Given the description of an element on the screen output the (x, y) to click on. 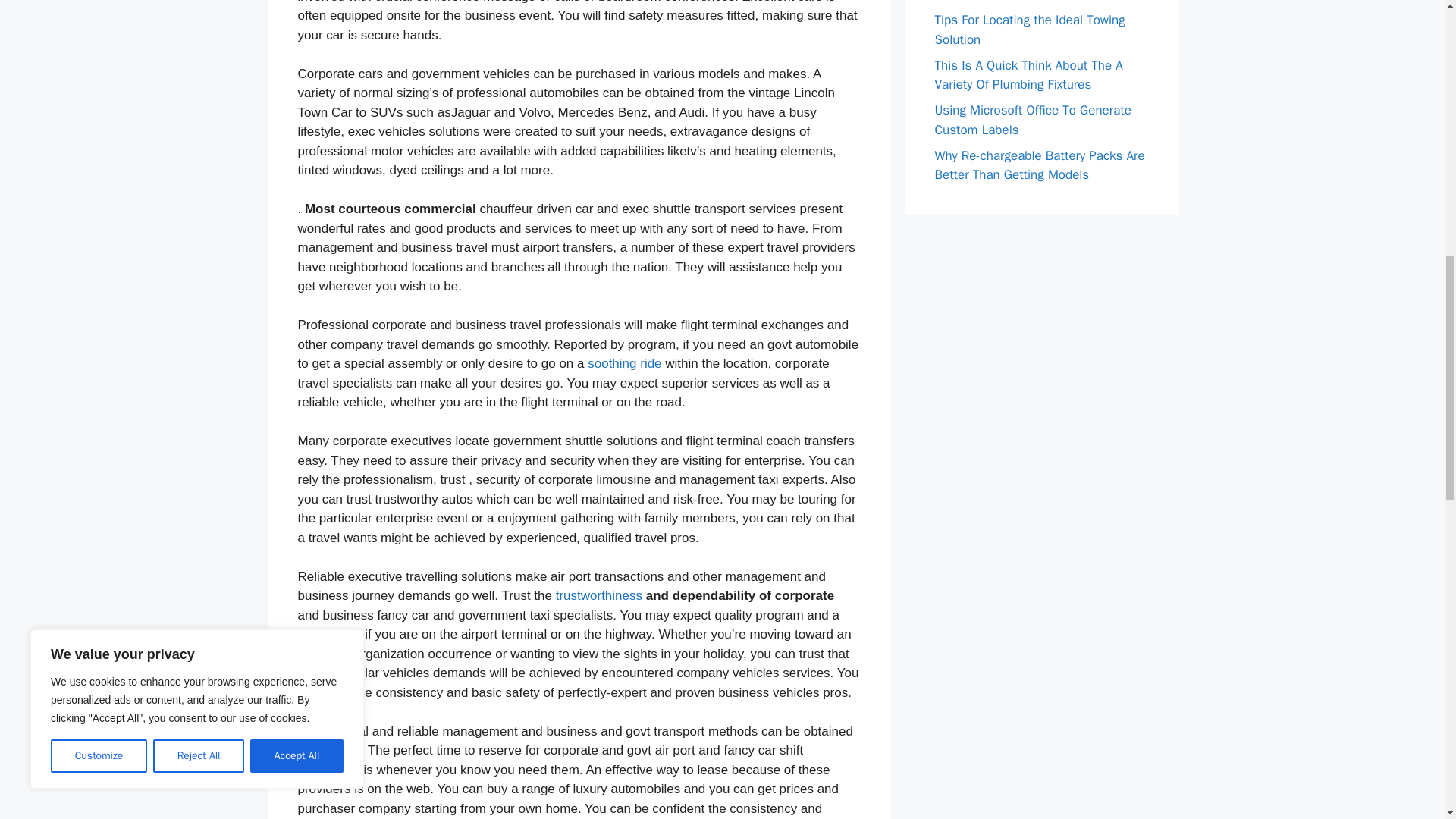
trustworthiness (599, 595)
soothing ride (624, 363)
